Given the description of an element on the screen output the (x, y) to click on. 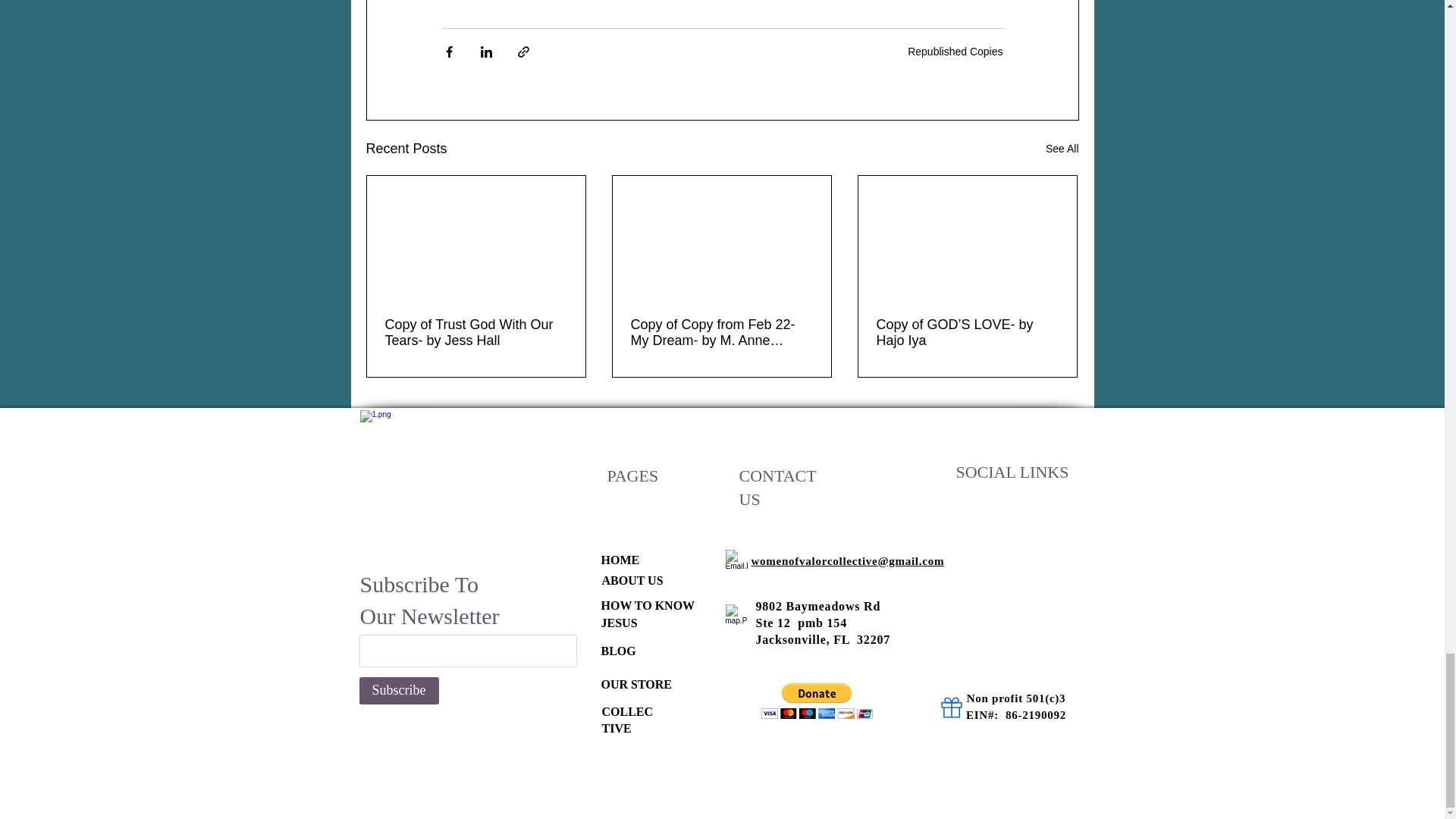
ABOUT US (632, 580)
BLOG (616, 650)
HOW TO KNOW JESUS (646, 613)
Republished Copies (955, 51)
Copy of Copy from Feb 22- My Dream- by M. Anne Blount (721, 332)
See All (1061, 148)
COLLECTIVE (627, 719)
Copy of Trust God With Our Tears- by Jess Hall (476, 332)
Subscribe (399, 690)
9802 Baymeadows Rd (817, 605)
HOME (619, 559)
OUR STORE (635, 684)
